Given the description of an element on the screen output the (x, y) to click on. 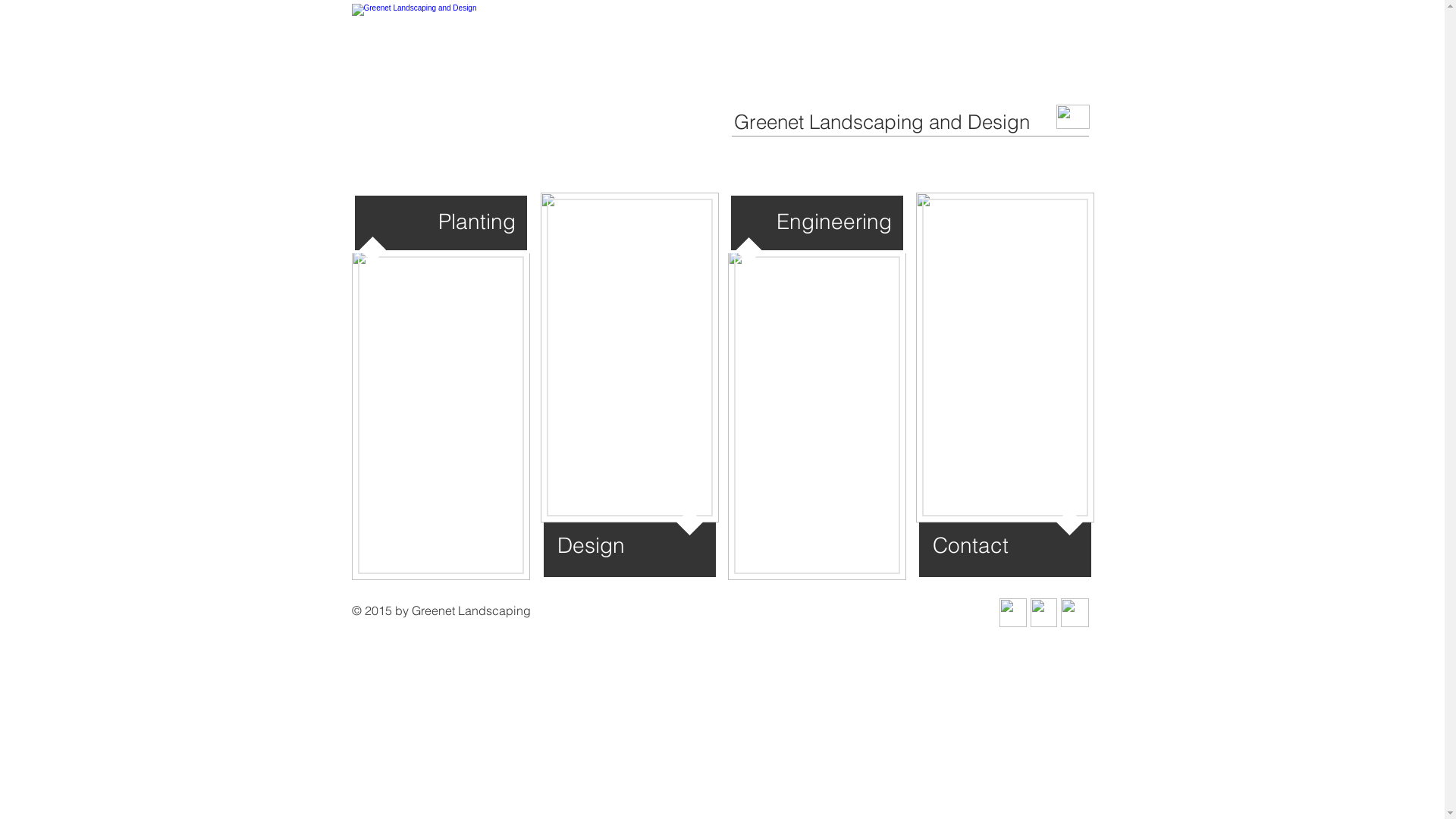
Greenet Element type: hover (1005, 357)
LinkedIn Element type: hover (1042, 612)
Eng6.png Element type: hover (817, 415)
Planting Element type: hover (440, 415)
Home Element type: hover (1071, 116)
Email Element type: hover (1012, 612)
GreenetLogo Element type: hover (437, 78)
Facebook Element type: hover (1074, 612)
Design Element type: hover (628, 357)
